Given the description of an element on the screen output the (x, y) to click on. 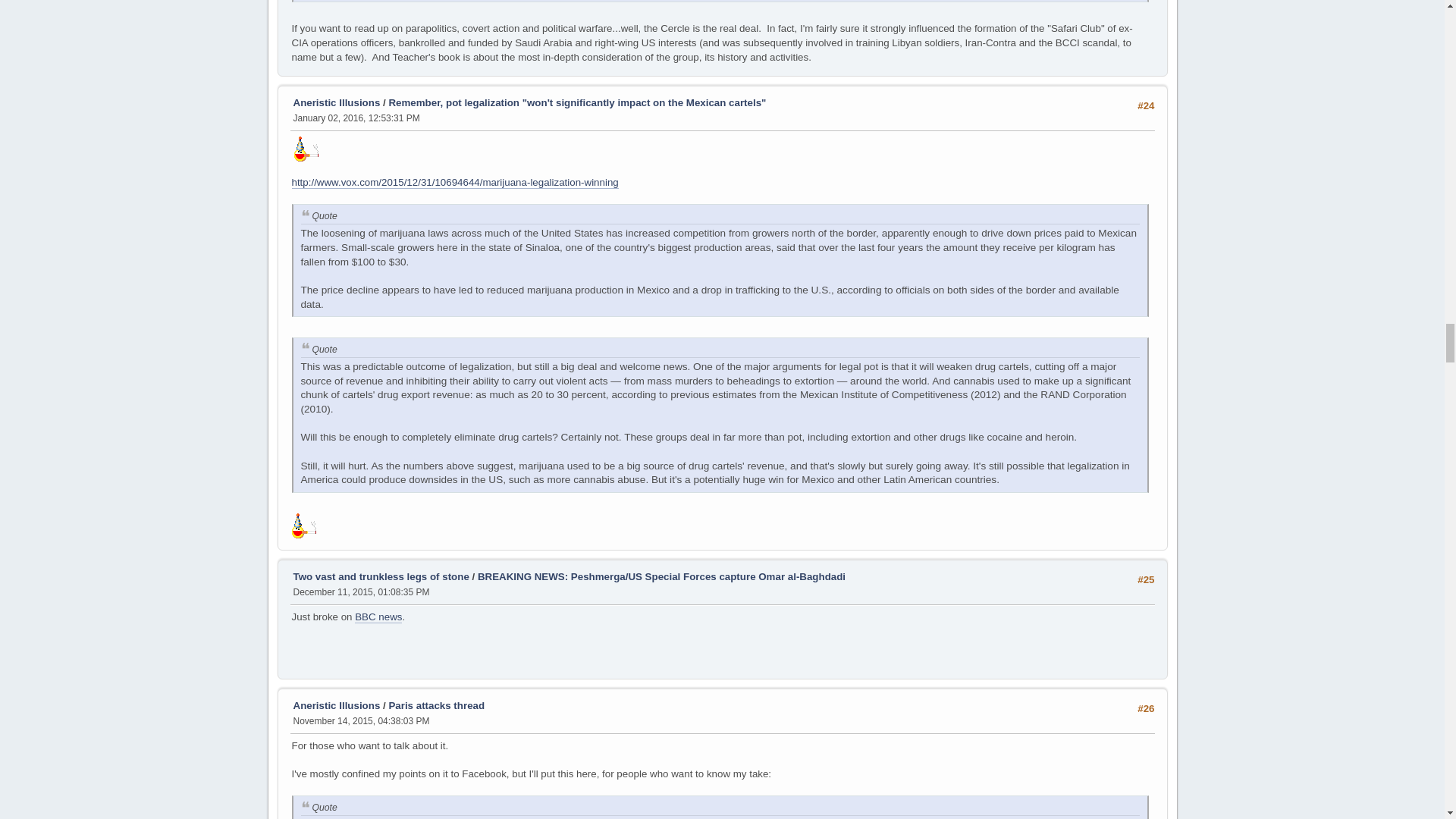
lulz (306, 148)
lulz (303, 525)
